Given the description of an element on the screen output the (x, y) to click on. 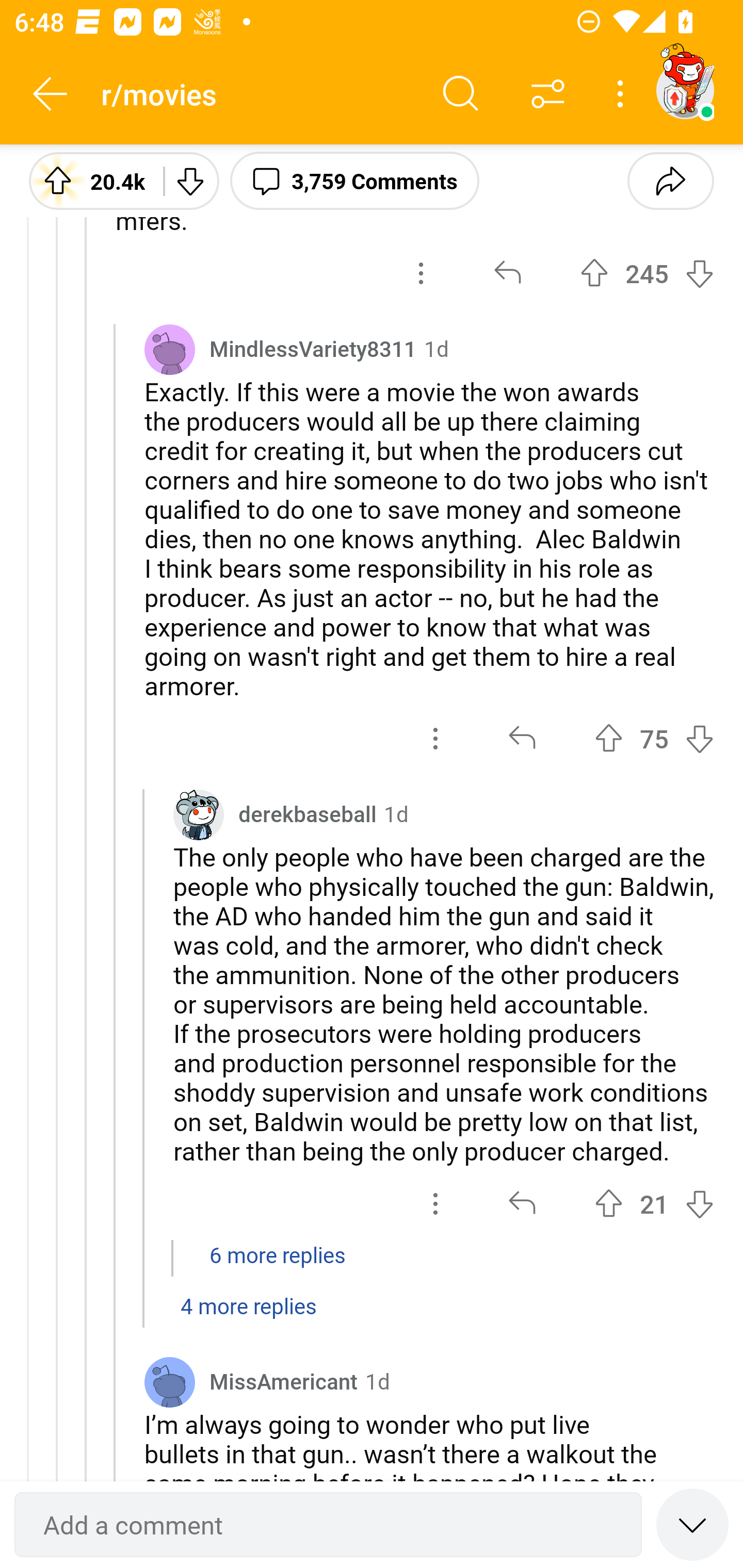
Back (50, 93)
TestAppium002 account (685, 90)
Search comments (460, 93)
Sort comments (547, 93)
More options (623, 93)
r/movies (259, 92)
Upvote 20.4k (88, 180)
Downvote (189, 180)
3,759 Comments (354, 180)
Share (670, 180)
options (420, 272)
Upvote 245 245 votes Downvote (647, 272)
Avatar (169, 349)
options (435, 738)
Upvote 75 75 votes Downvote (654, 738)
Custom avatar (198, 815)
options (435, 1204)
Upvote 21 21 votes Downvote (654, 1204)
6 more replies (371, 1265)
4 more replies (371, 1316)
Avatar (169, 1381)
Speed read (692, 1524)
Add a comment (327, 1524)
